Given the description of an element on the screen output the (x, y) to click on. 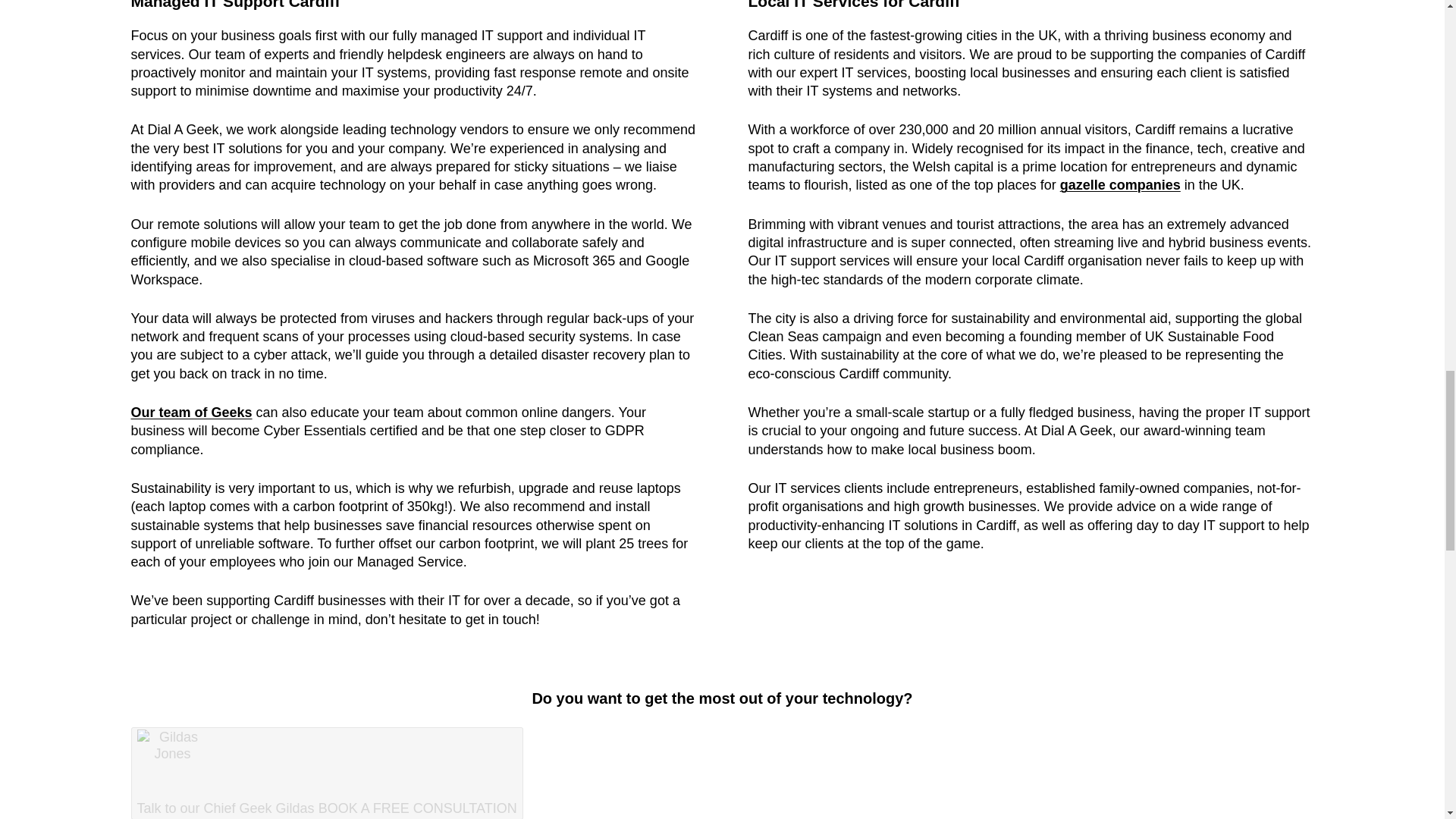
Talk to our Chief Geek Gildas BOOK A FREE CONSULTATION (326, 773)
Our team of Geeks (191, 412)
gazelle companies (1119, 184)
